Given the description of an element on the screen output the (x, y) to click on. 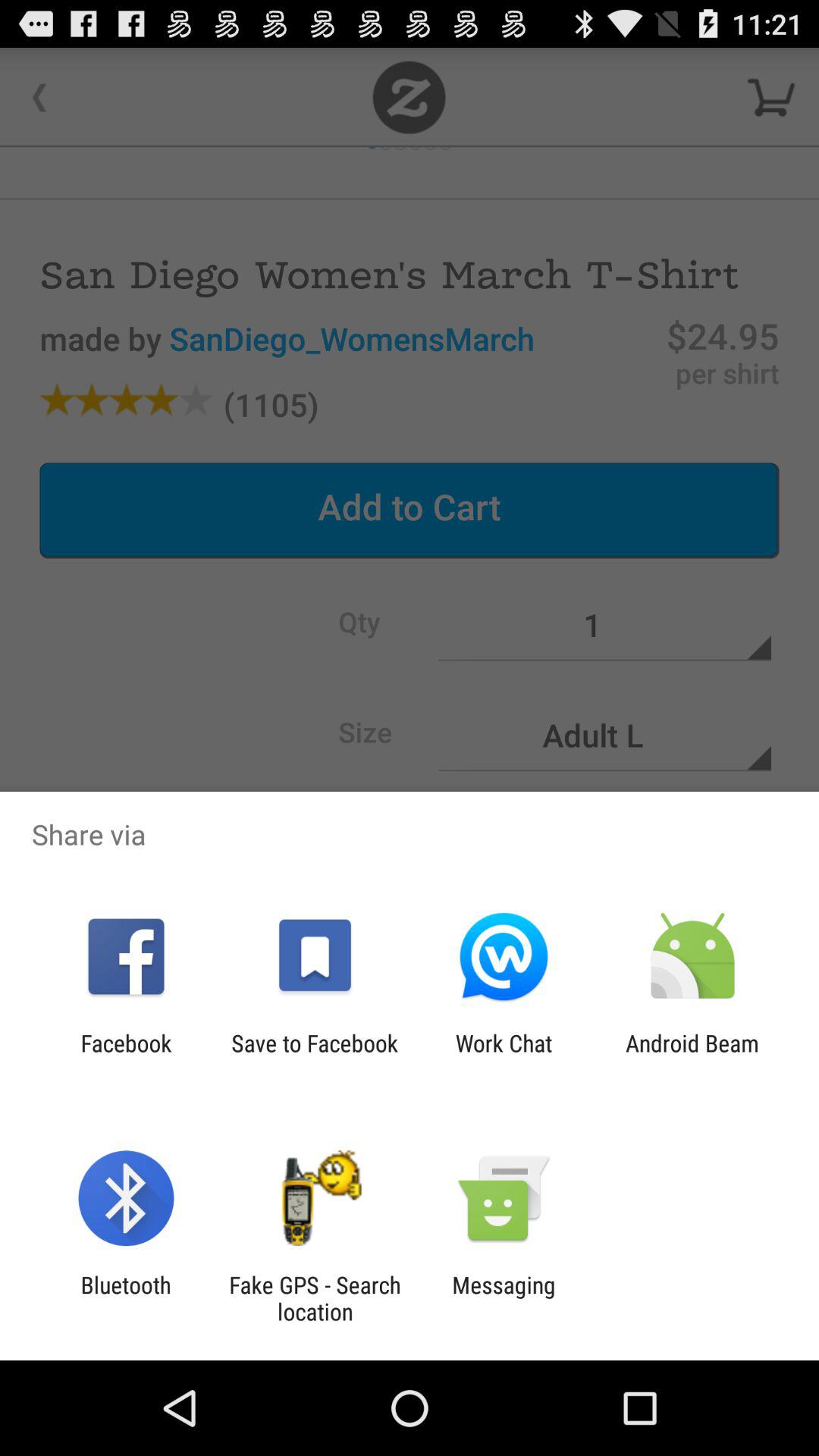
choose icon next to bluetooth icon (314, 1298)
